Given the description of an element on the screen output the (x, y) to click on. 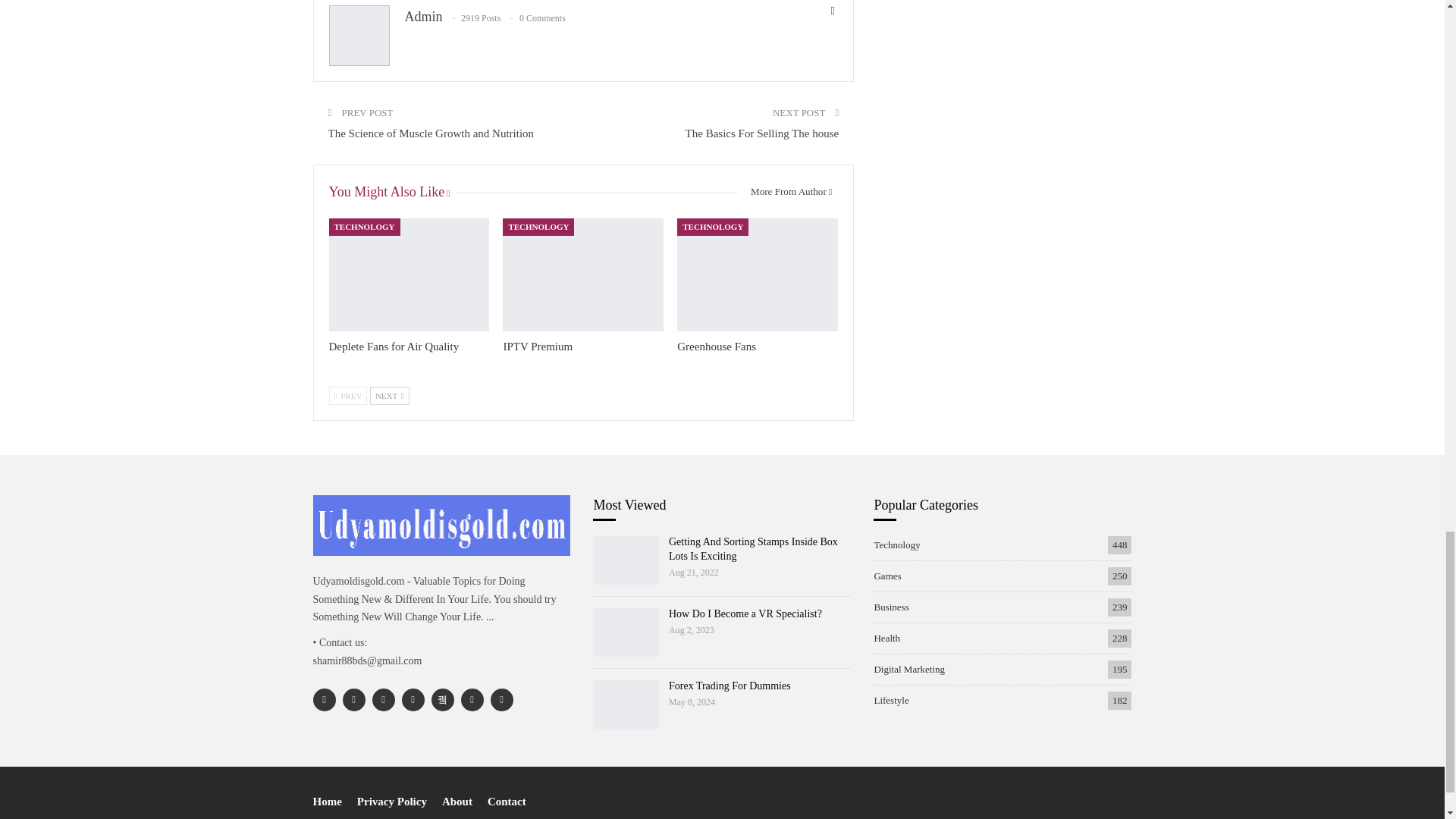
Deplete Fans for Air Quality (394, 346)
IPTV Premium (582, 274)
Deplete Fans for Air Quality (409, 274)
IPTV Premium (537, 346)
